Given the description of an element on the screen output the (x, y) to click on. 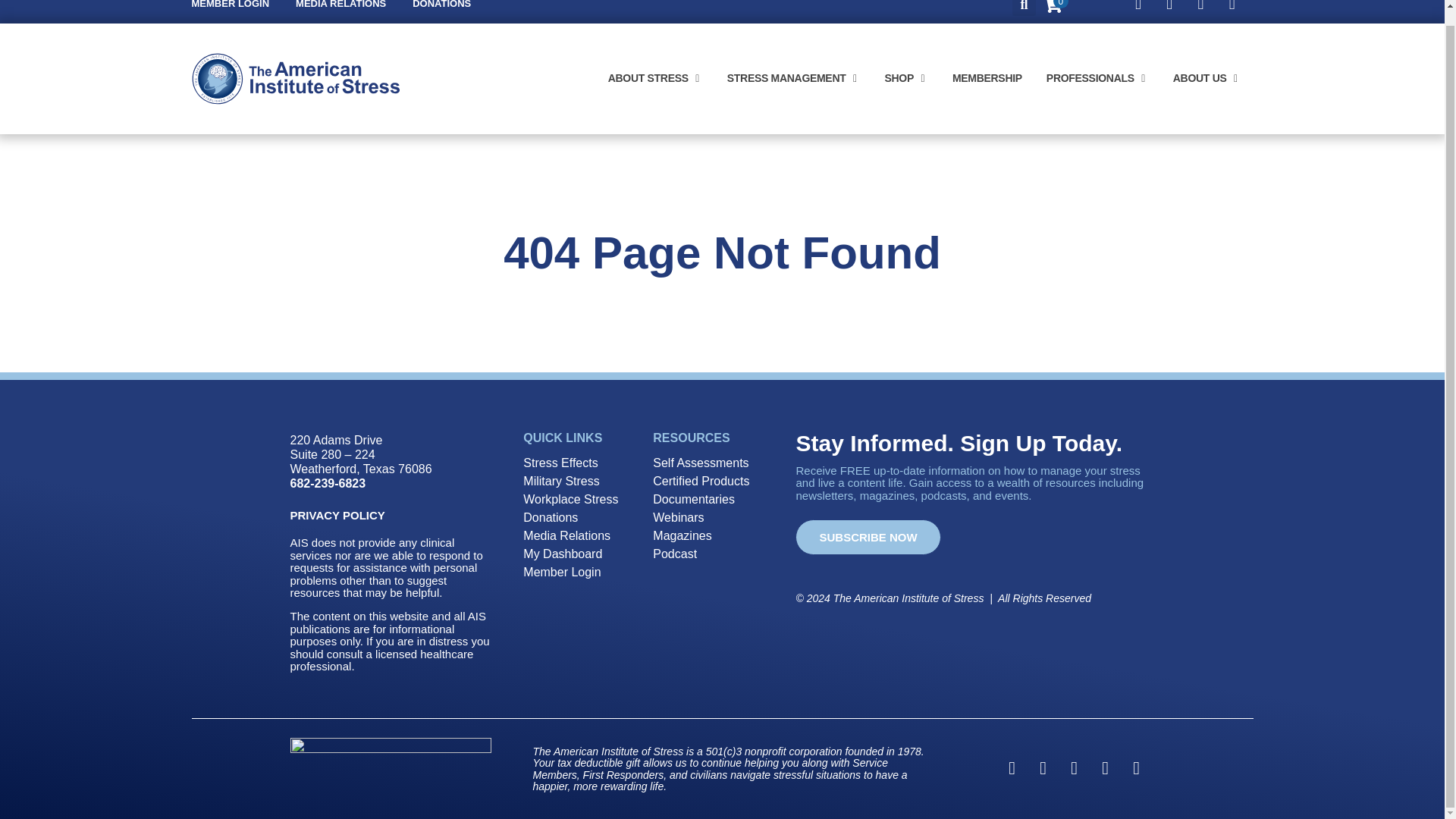
MEDIA RELATIONS (340, 6)
0 (1052, 8)
DONATIONS (441, 6)
View your shopping cart (1052, 8)
MEMBER LOGIN (229, 6)
